Given the description of an element on the screen output the (x, y) to click on. 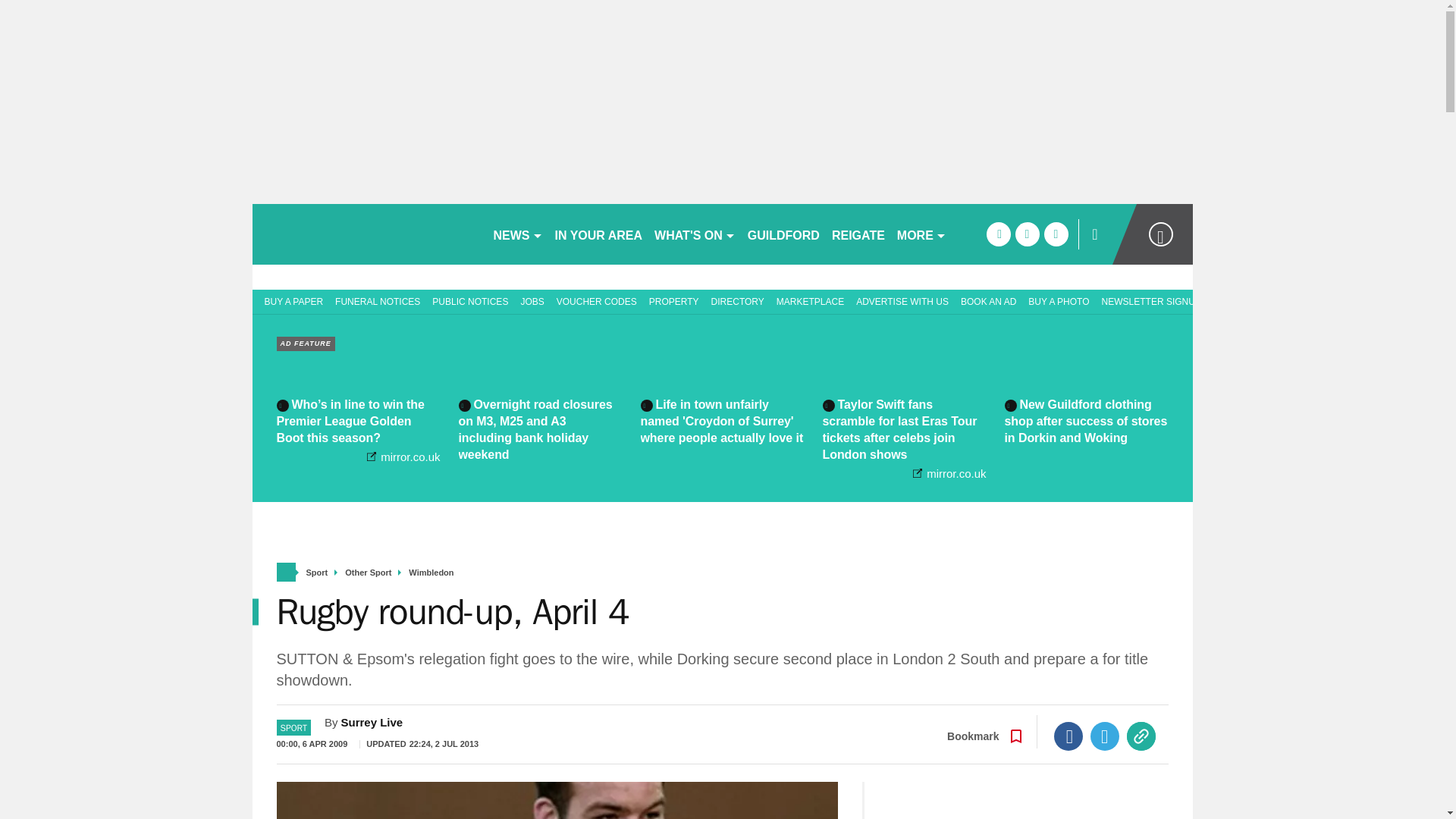
MORE (921, 233)
PUBLIC NOTICES (469, 300)
IN YOUR AREA (598, 233)
PROPERTY (673, 300)
REIGATE (858, 233)
Twitter (1104, 736)
Facebook (1068, 736)
JOBS (531, 300)
NEWS (517, 233)
getsurrey (365, 233)
